Given the description of an element on the screen output the (x, y) to click on. 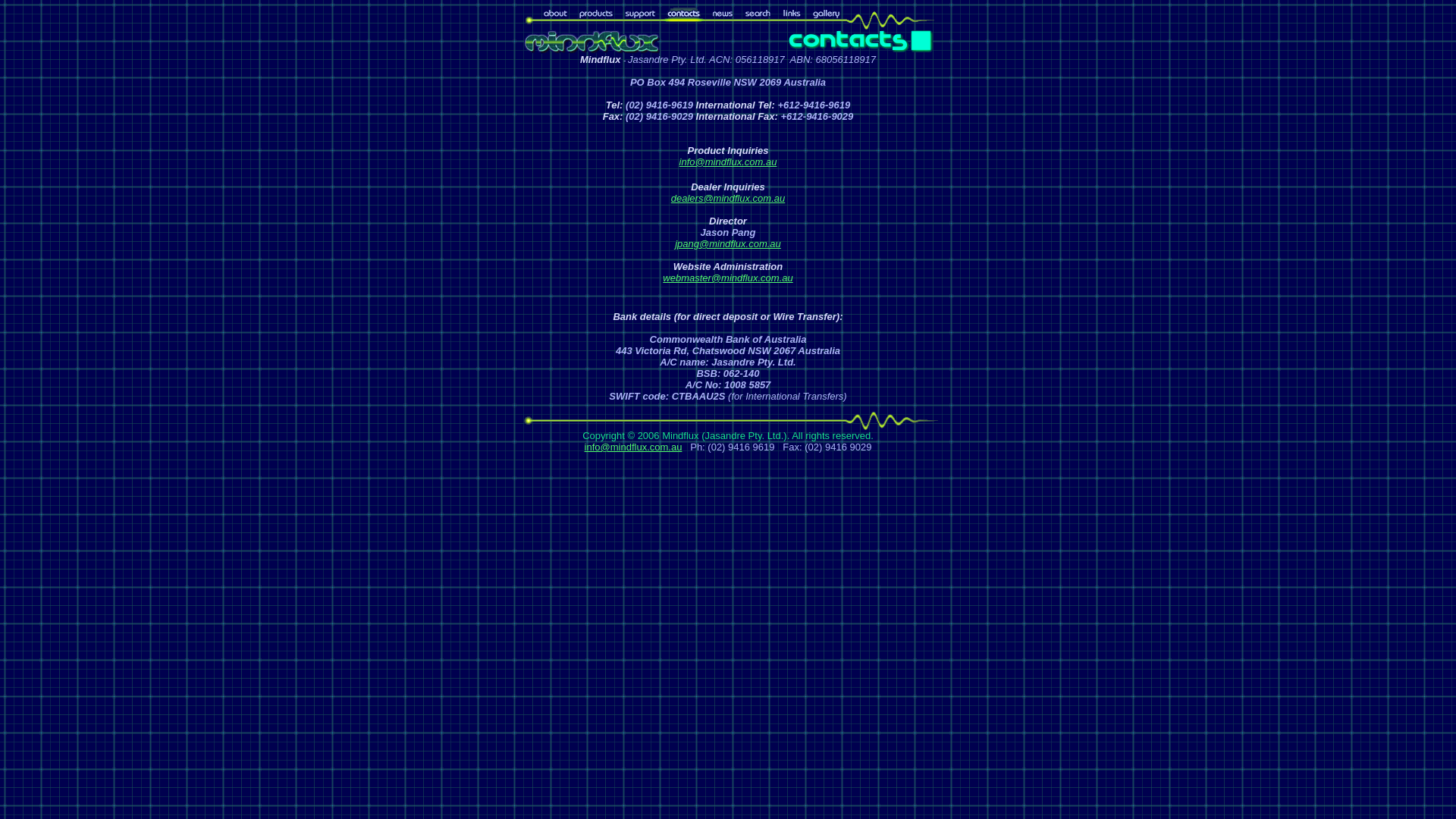
info@mindflux.com.au Element type: text (633, 446)
dealers@mindflux.com.au Element type: text (727, 197)
webmaster@mindflux.com.au Element type: text (727, 277)
info@mindflux.com.au Element type: text (728, 160)
jpang@mindflux.com.au Element type: text (727, 243)
